Given the description of an element on the screen output the (x, y) to click on. 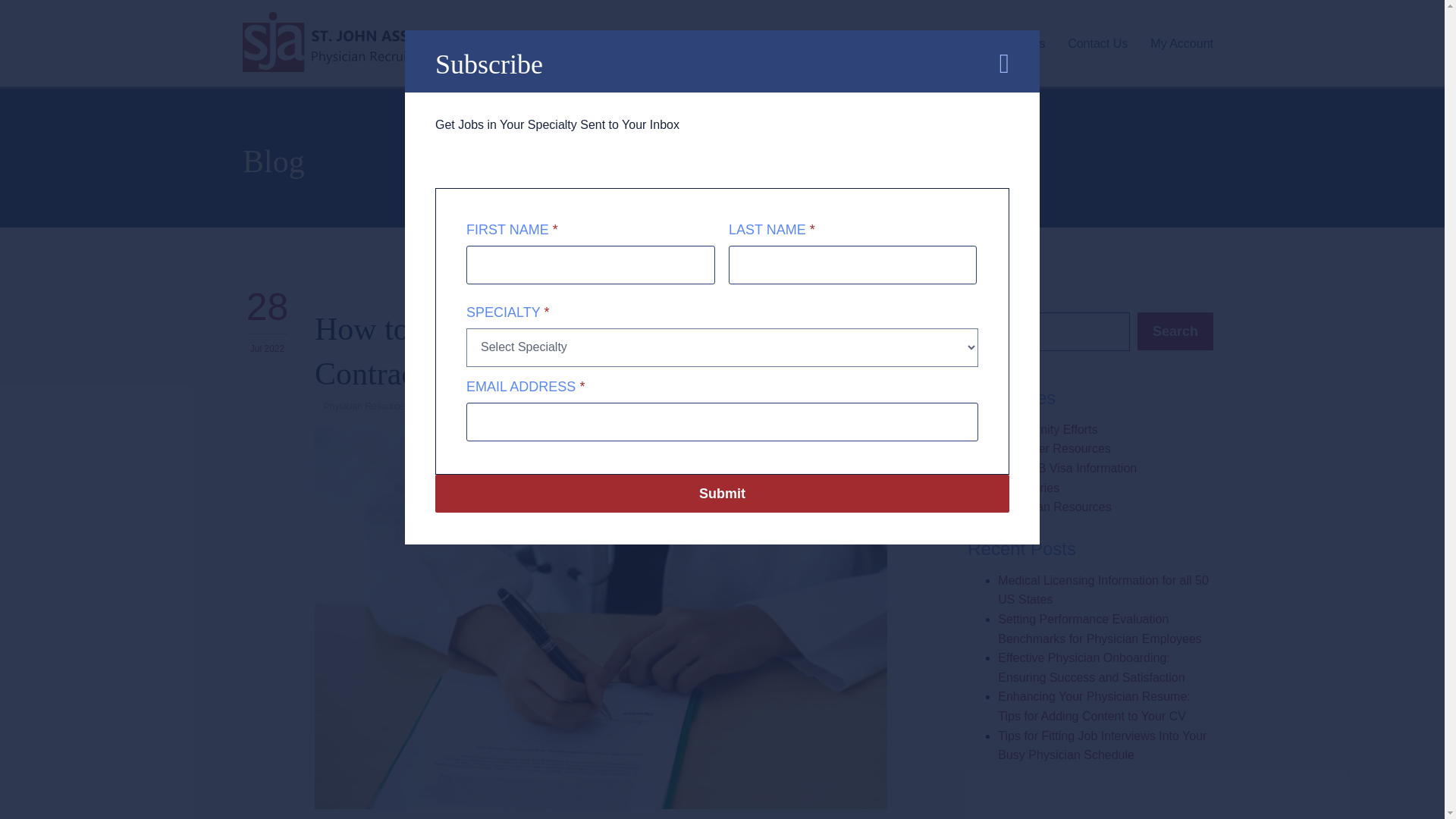
For Physicians (830, 42)
Contact Us (1097, 42)
For Employers (933, 42)
Search Physician Jobs (707, 42)
